Given the description of an element on the screen output the (x, y) to click on. 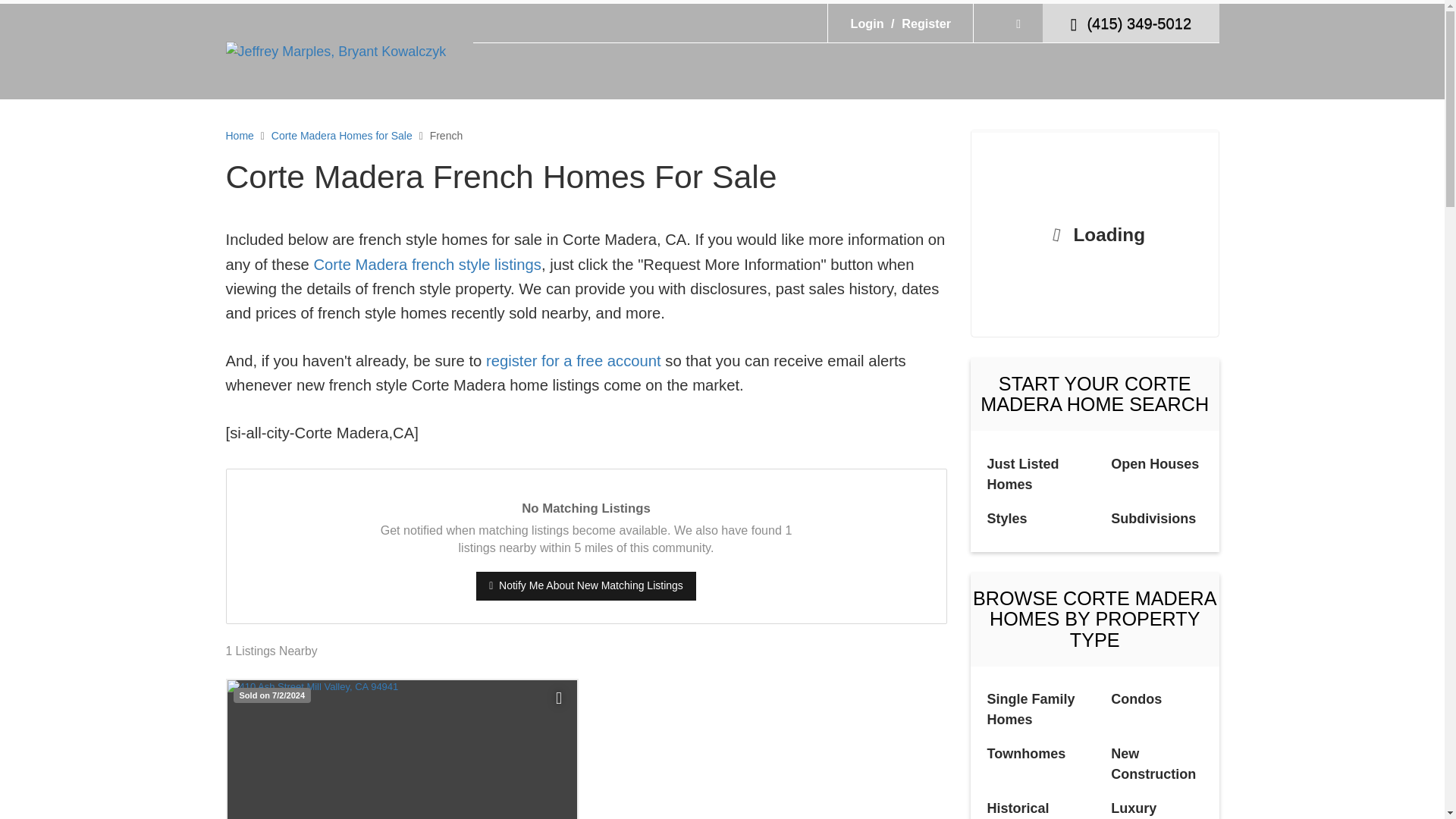
Register (918, 23)
Email Listing Alerts (573, 360)
Home Page (335, 50)
Login (866, 23)
Select Language (1008, 23)
